Given the description of an element on the screen output the (x, y) to click on. 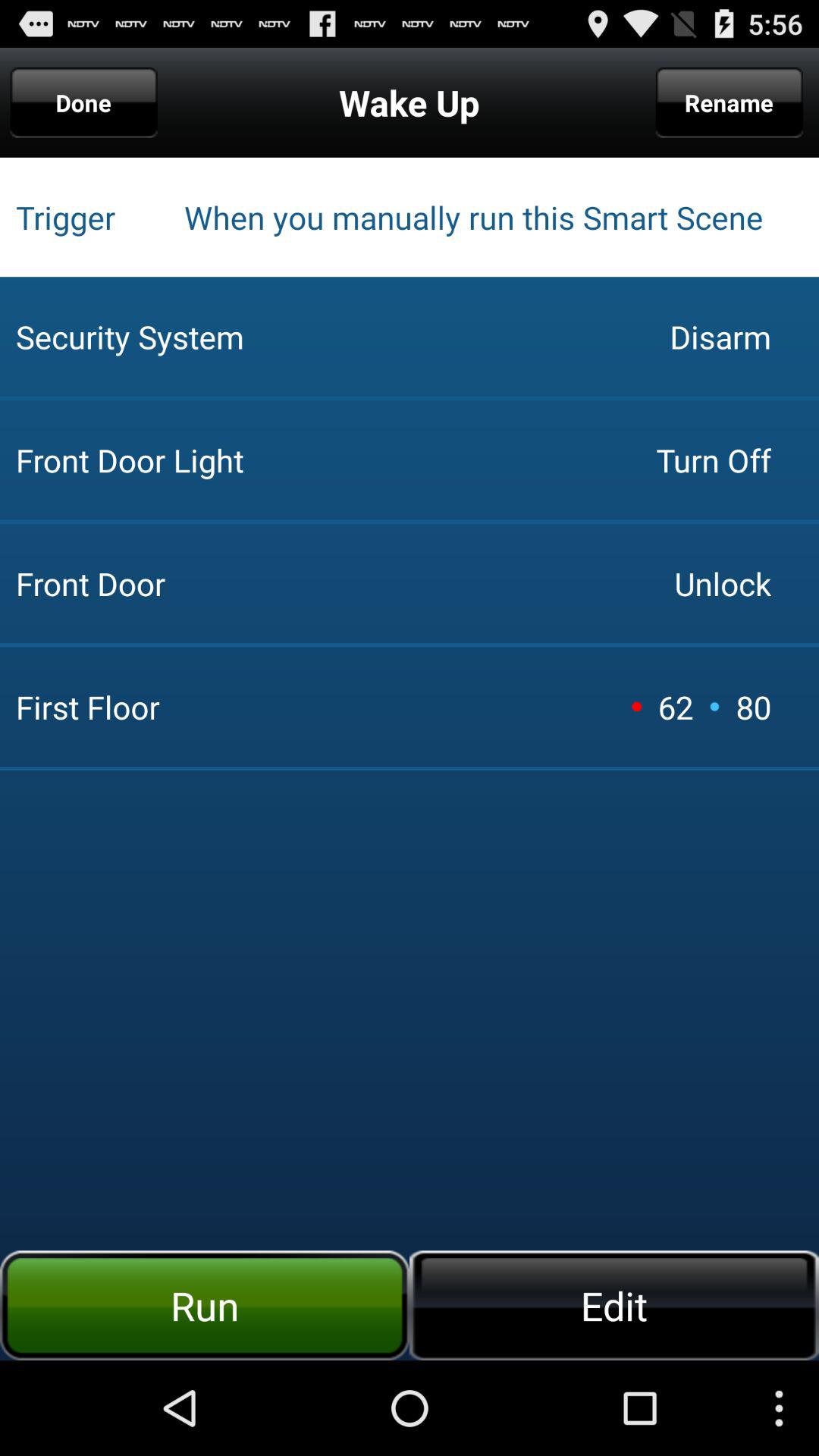
press item at the bottom right corner (614, 1305)
